Given the description of an element on the screen output the (x, y) to click on. 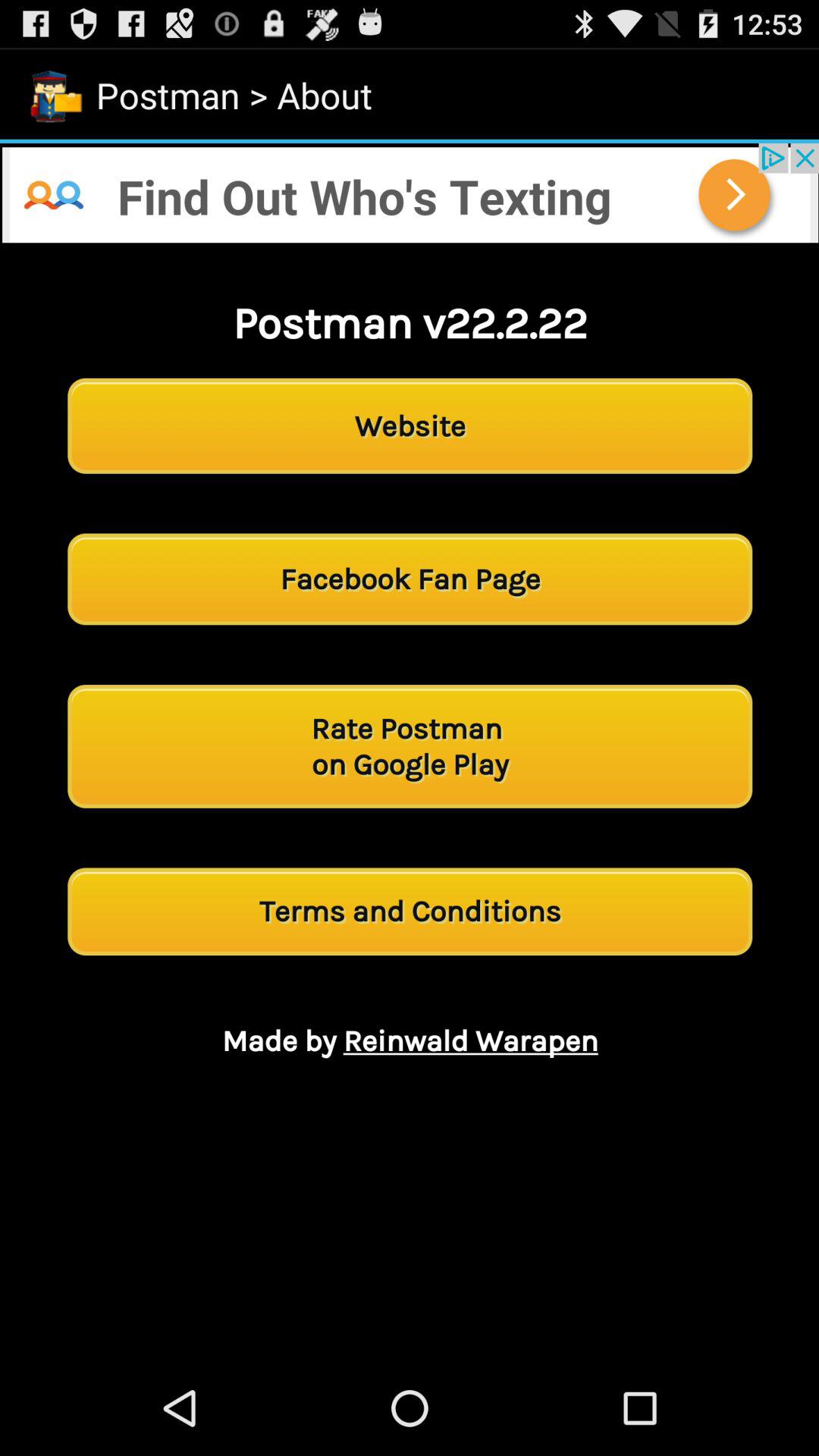
interact with advertisement (409, 192)
